Given the description of an element on the screen output the (x, y) to click on. 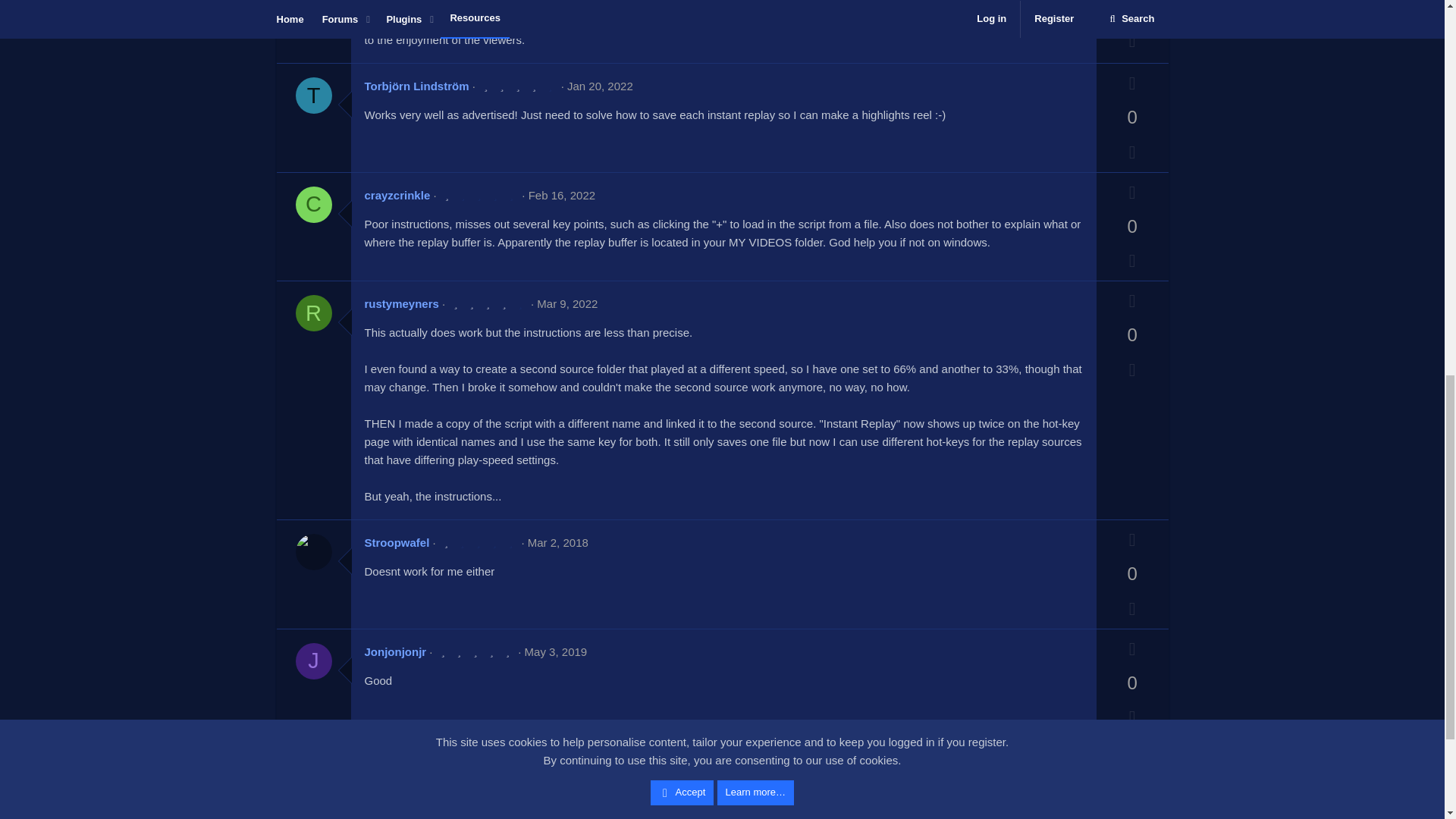
Jan 20, 2022 at 12:44 PM (600, 85)
Mar 9, 2022 at 7:27 PM (566, 303)
Feb 16, 2022 at 4:40 PM (561, 195)
